Given the description of an element on the screen output the (x, y) to click on. 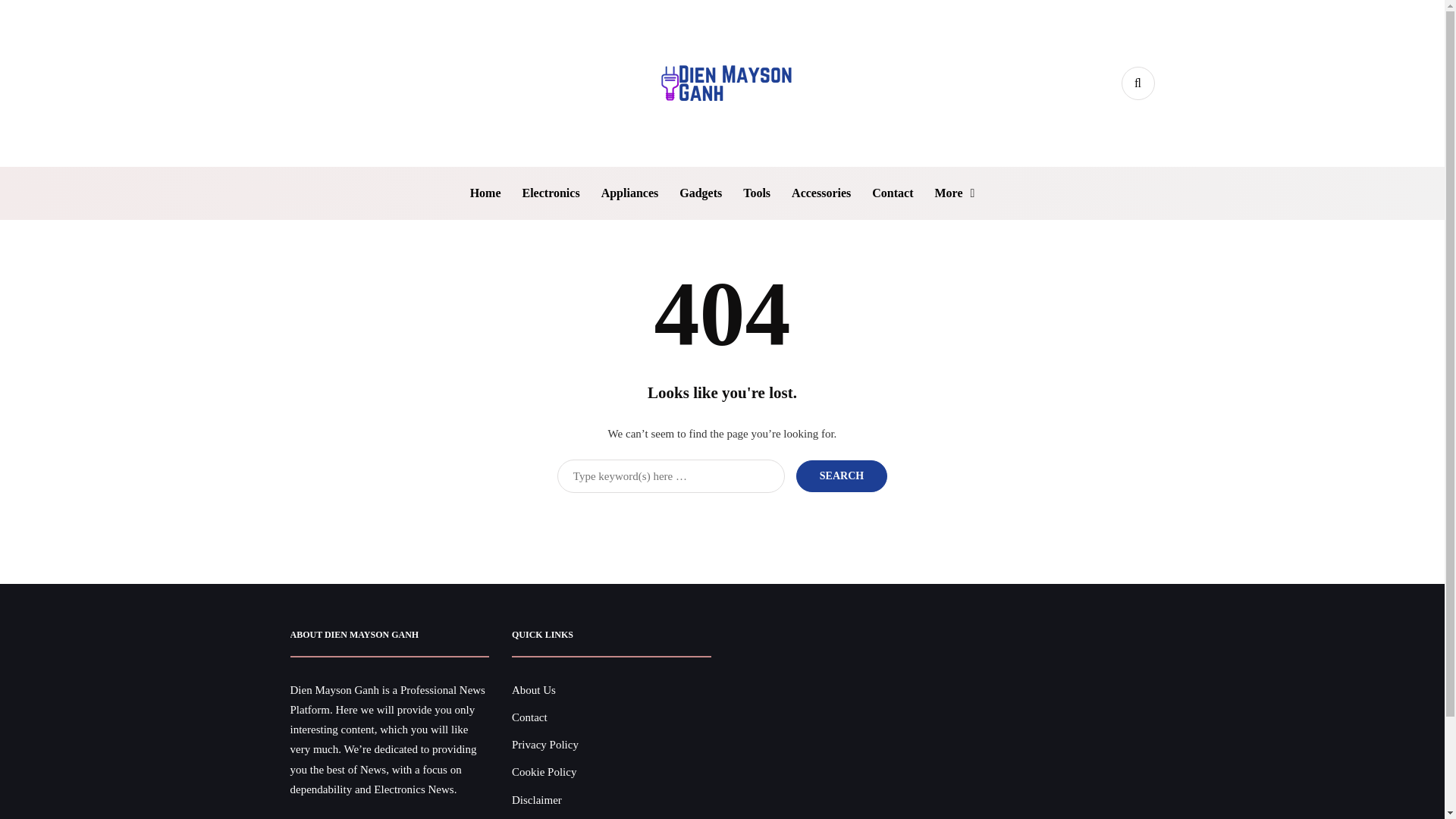
Search (841, 475)
Disclaimer (537, 799)
Appliances (630, 192)
More (954, 192)
Search (841, 475)
Accessories (820, 192)
Tools (756, 192)
Contact (892, 192)
Gadgets (700, 192)
Contact (529, 717)
